Given the description of an element on the screen output the (x, y) to click on. 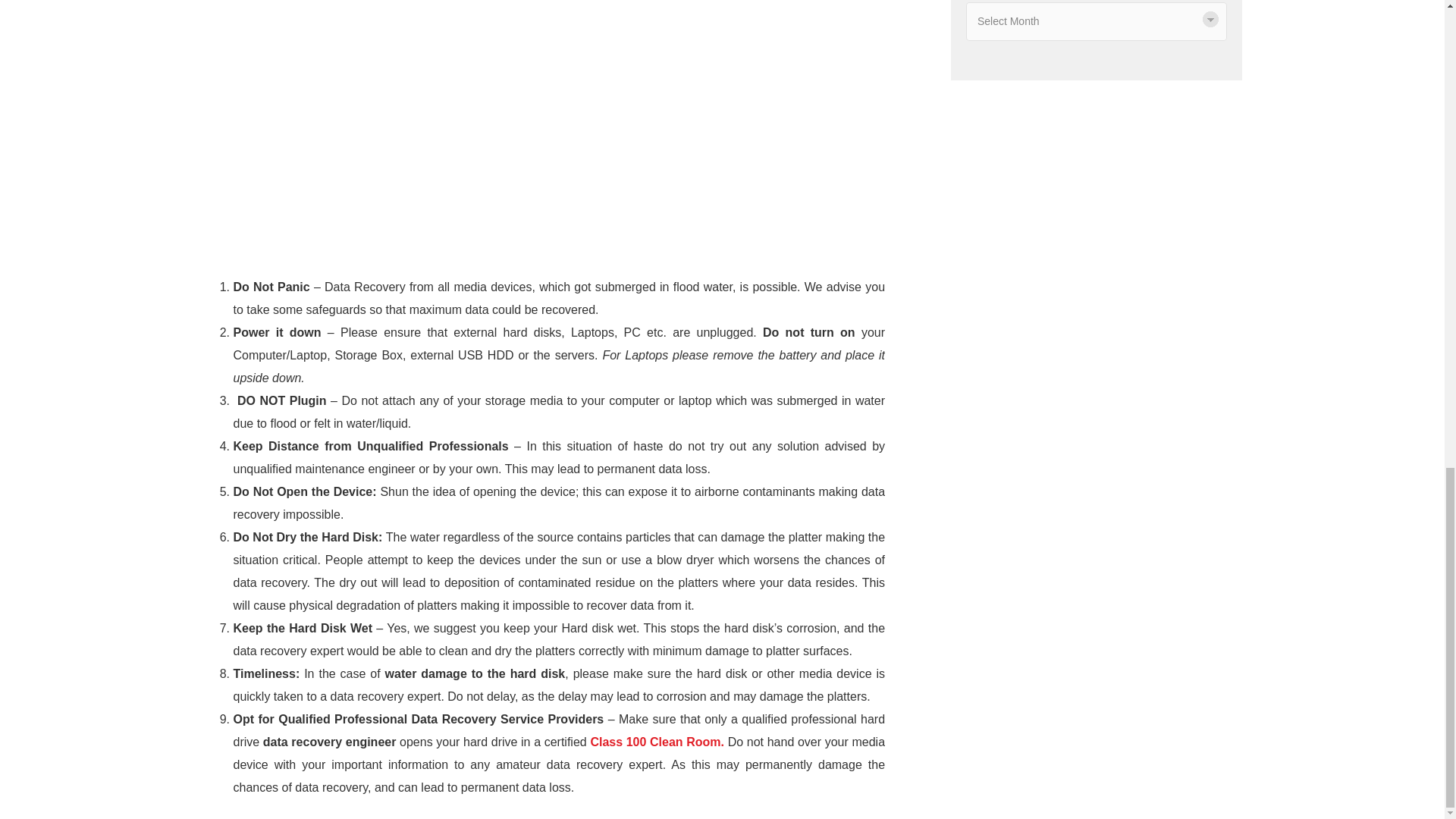
Class 100 Clean Room. (656, 741)
